Given the description of an element on the screen output the (x, y) to click on. 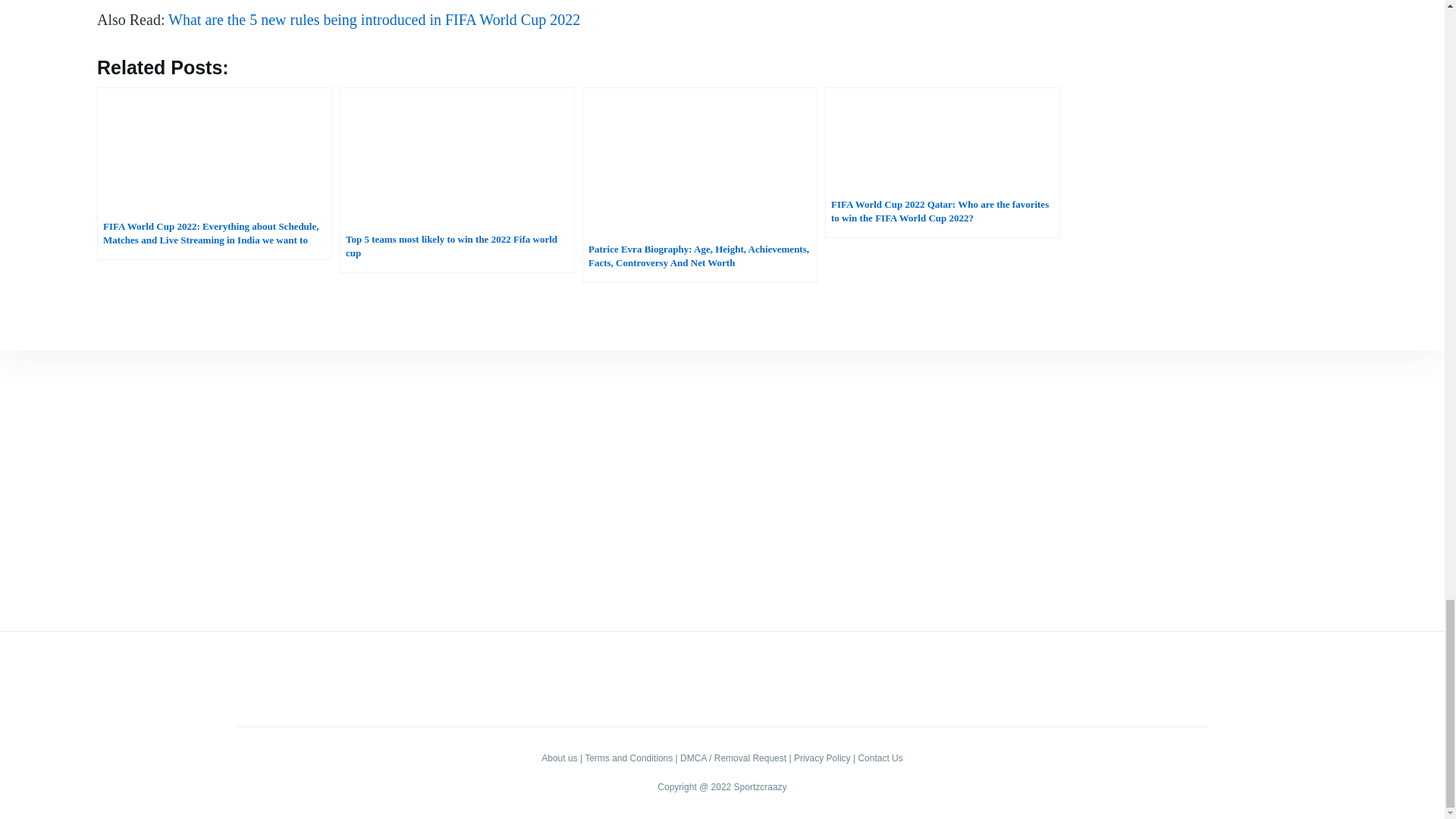
Top 5 teams most likely to win the 2022 Fifa world cup (457, 179)
